Given the description of an element on the screen output the (x, y) to click on. 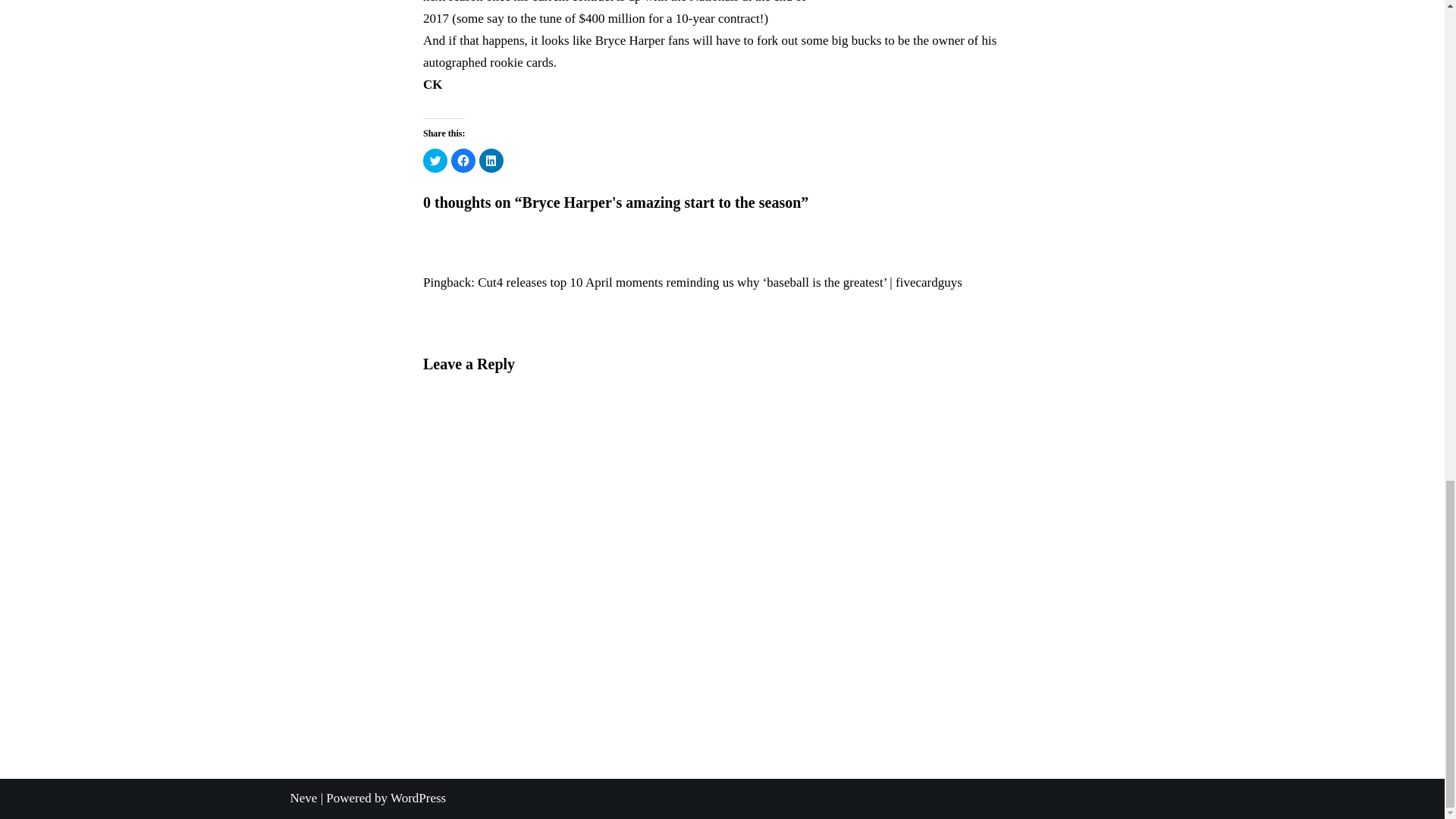
WordPress (417, 798)
Click to share on Twitter (434, 160)
Click to share on Facebook (463, 160)
Click to share on LinkedIn (491, 160)
Neve (303, 798)
